Given the description of an element on the screen output the (x, y) to click on. 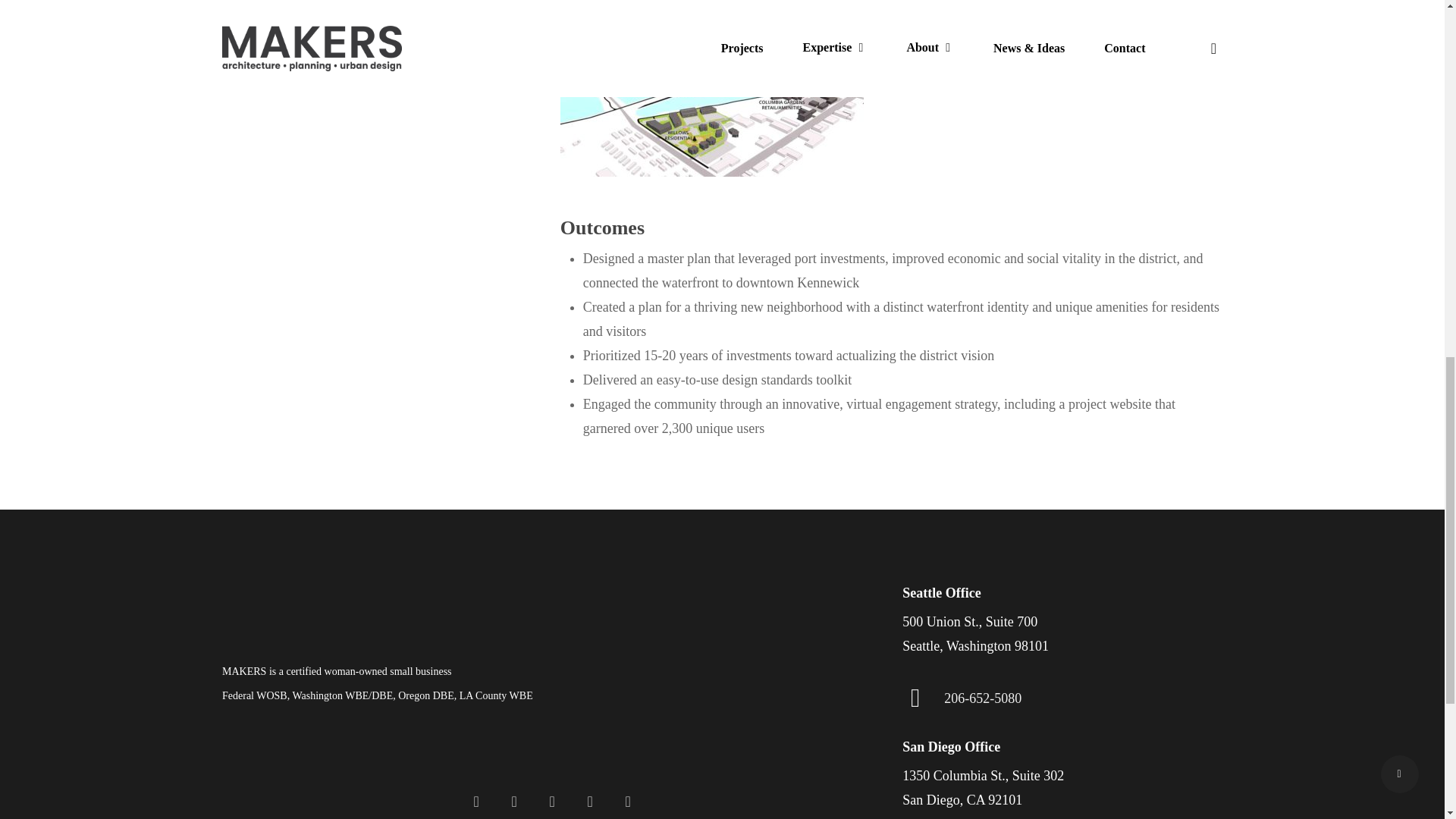
youtube (551, 800)
206-652-5080 (982, 698)
facebook (475, 800)
email (627, 800)
instagram (589, 800)
ed-plan-01 (711, 100)
linkedin (513, 800)
